Given the description of an element on the screen output the (x, y) to click on. 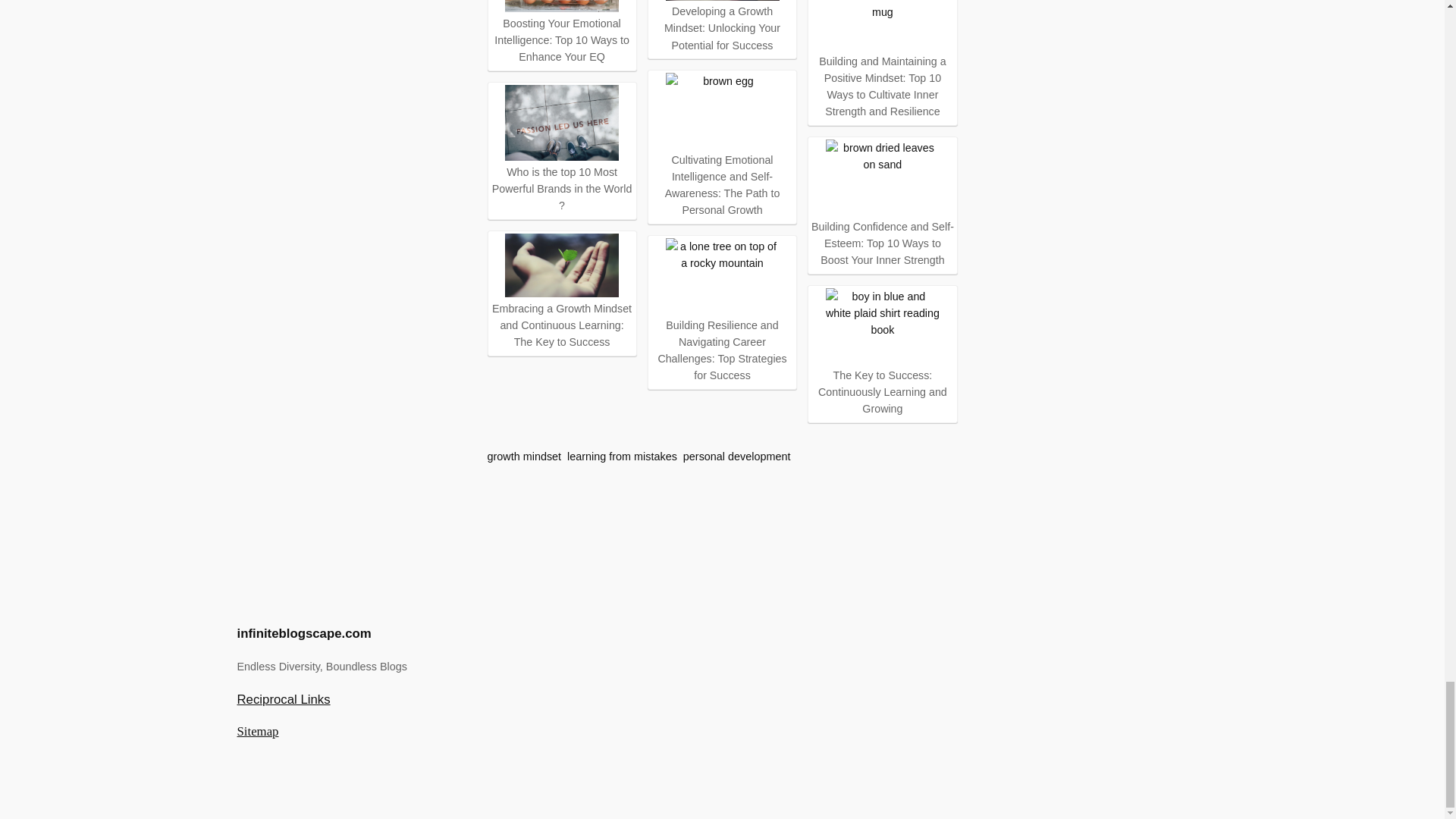
personal development (736, 456)
Who is the top 10 Most Powerful Brands in the World ? (561, 149)
Reciprocal Links (282, 699)
Sitemap (256, 730)
infiniteblogscape.com (303, 633)
The Key to Success: Continuously Learning and Growing (881, 352)
